Given the description of an element on the screen output the (x, y) to click on. 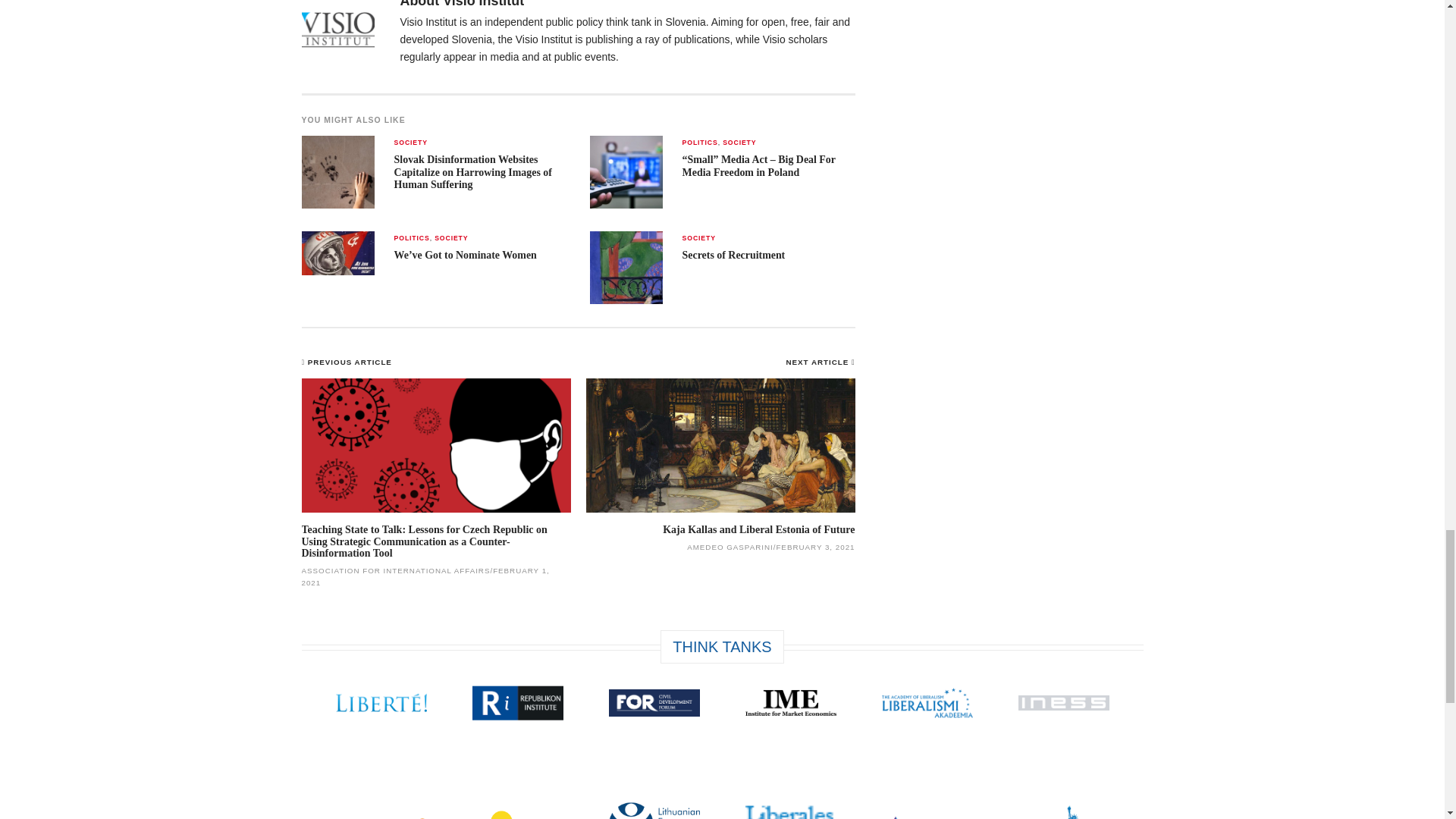
Posts by Visio Institut (483, 4)
